Given the description of an element on the screen output the (x, y) to click on. 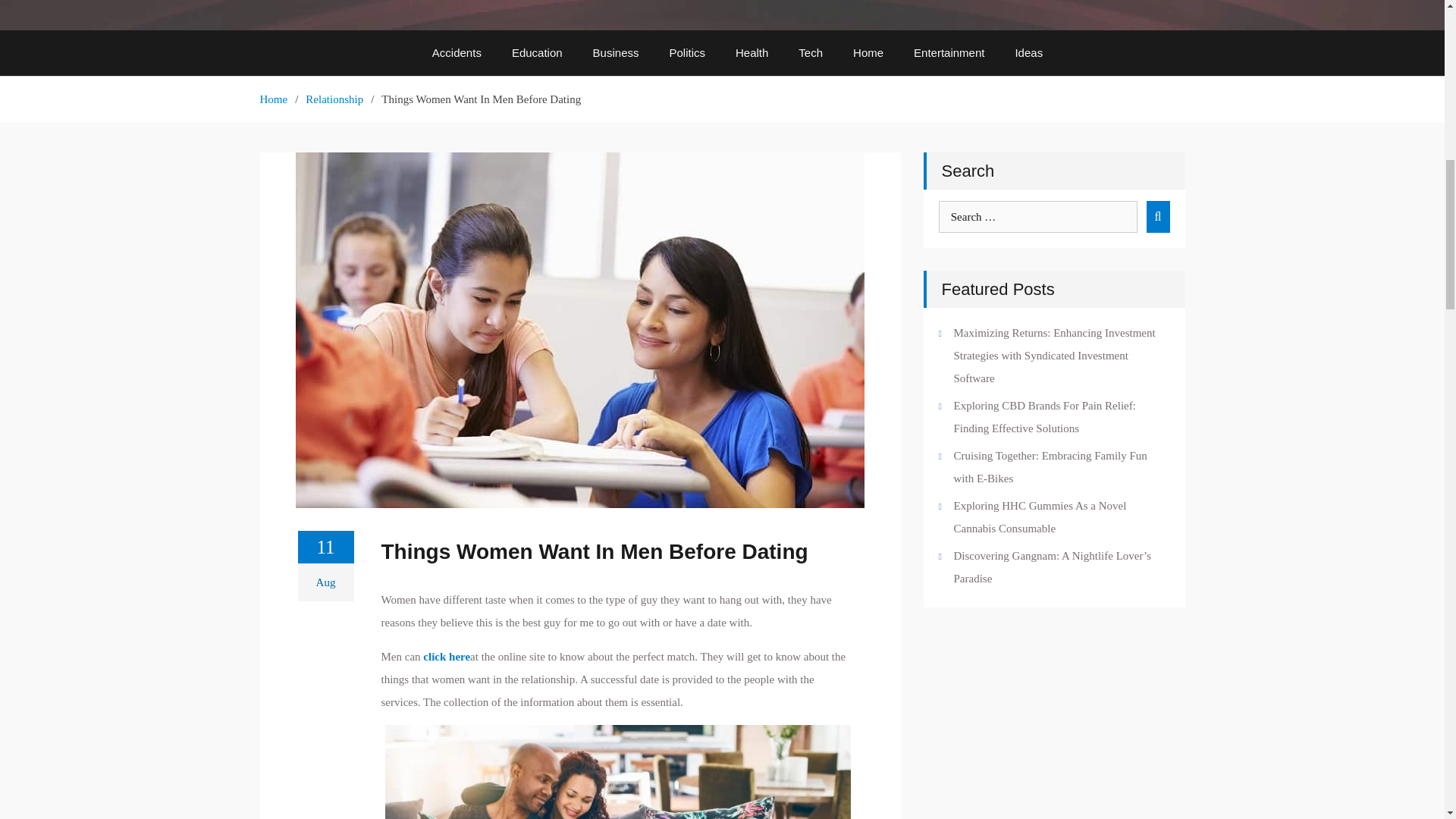
click here (446, 656)
Business (615, 53)
Tech (810, 53)
Exploring HHC Gummies As a Novel Cannabis Consumable (1039, 516)
Home (868, 53)
Health (751, 53)
Education (537, 53)
Entertainment (948, 53)
Accidents (456, 53)
Cruising Together: Embracing Family Fun with E-Bikes (1050, 466)
